Given the description of an element on the screen output the (x, y) to click on. 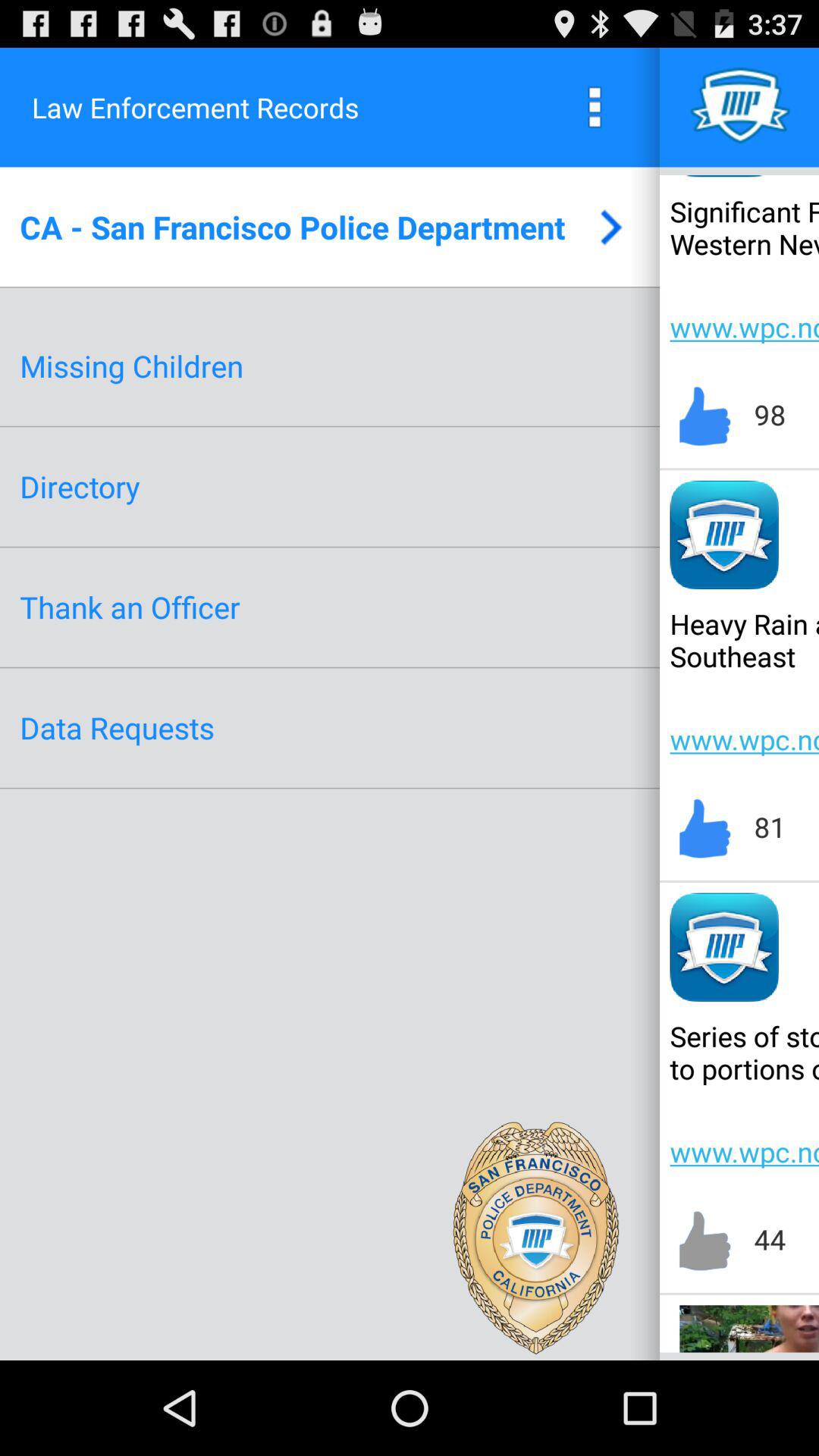
open icon below directory (129, 606)
